Given the description of an element on the screen output the (x, y) to click on. 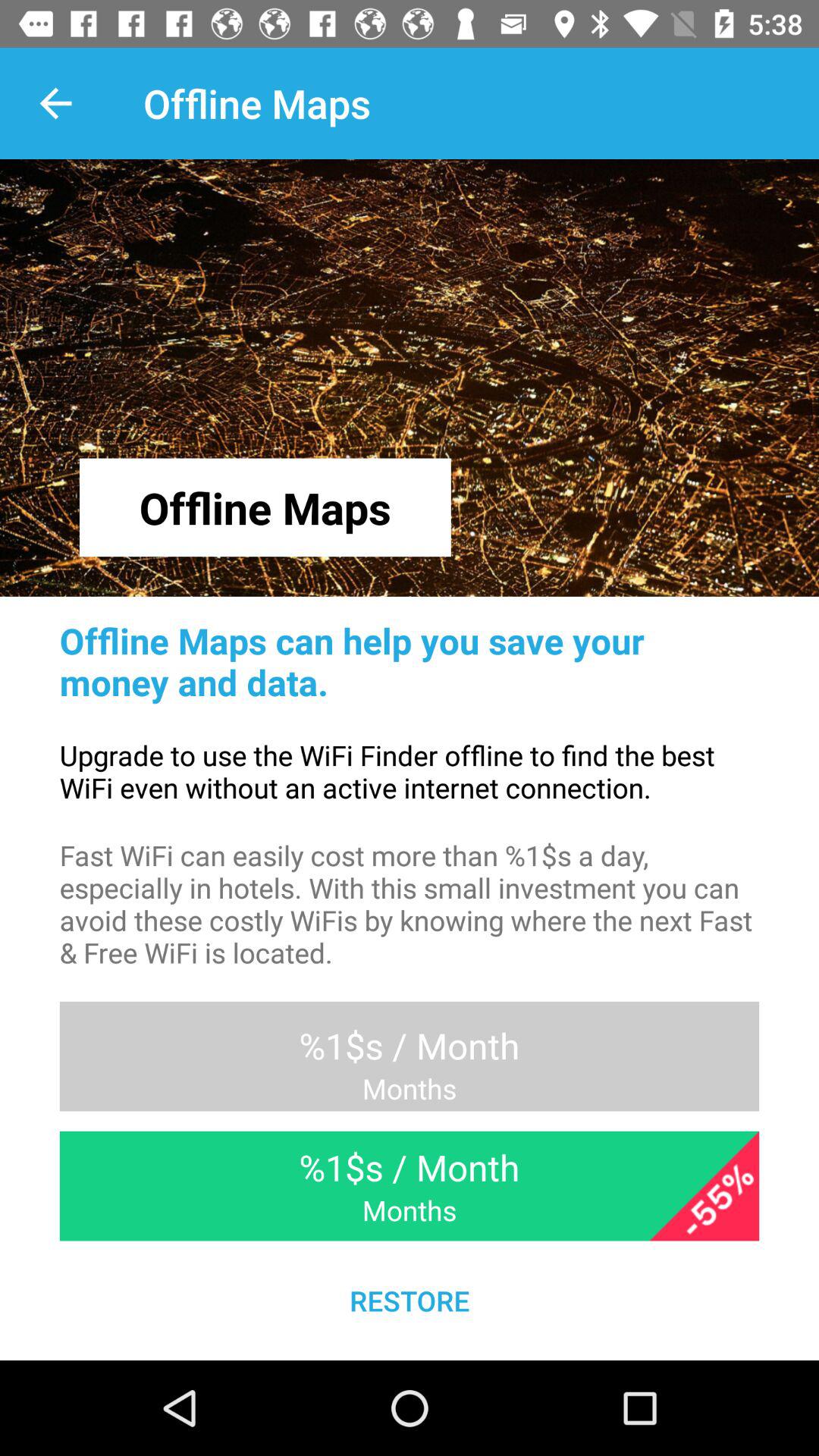
press item next to the offline maps (55, 103)
